Given the description of an element on the screen output the (x, y) to click on. 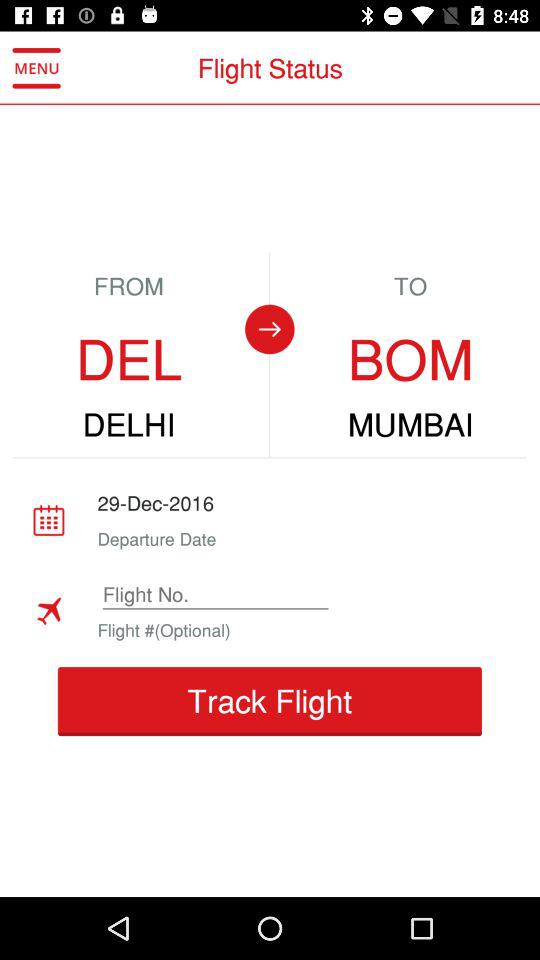
open item below bom icon (410, 425)
